Given the description of an element on the screen output the (x, y) to click on. 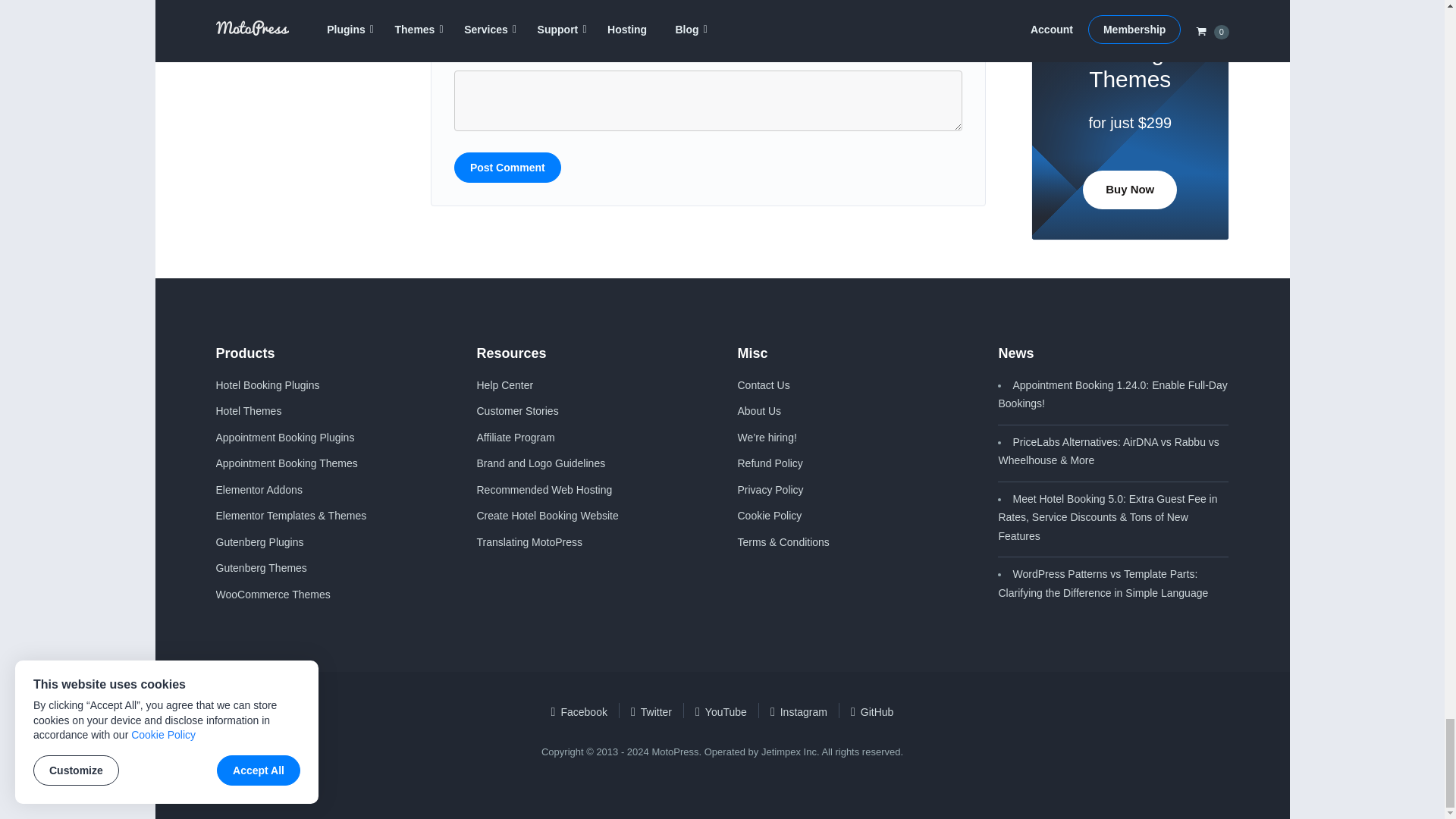
Post Comment (507, 167)
